Given the description of an element on the screen output the (x, y) to click on. 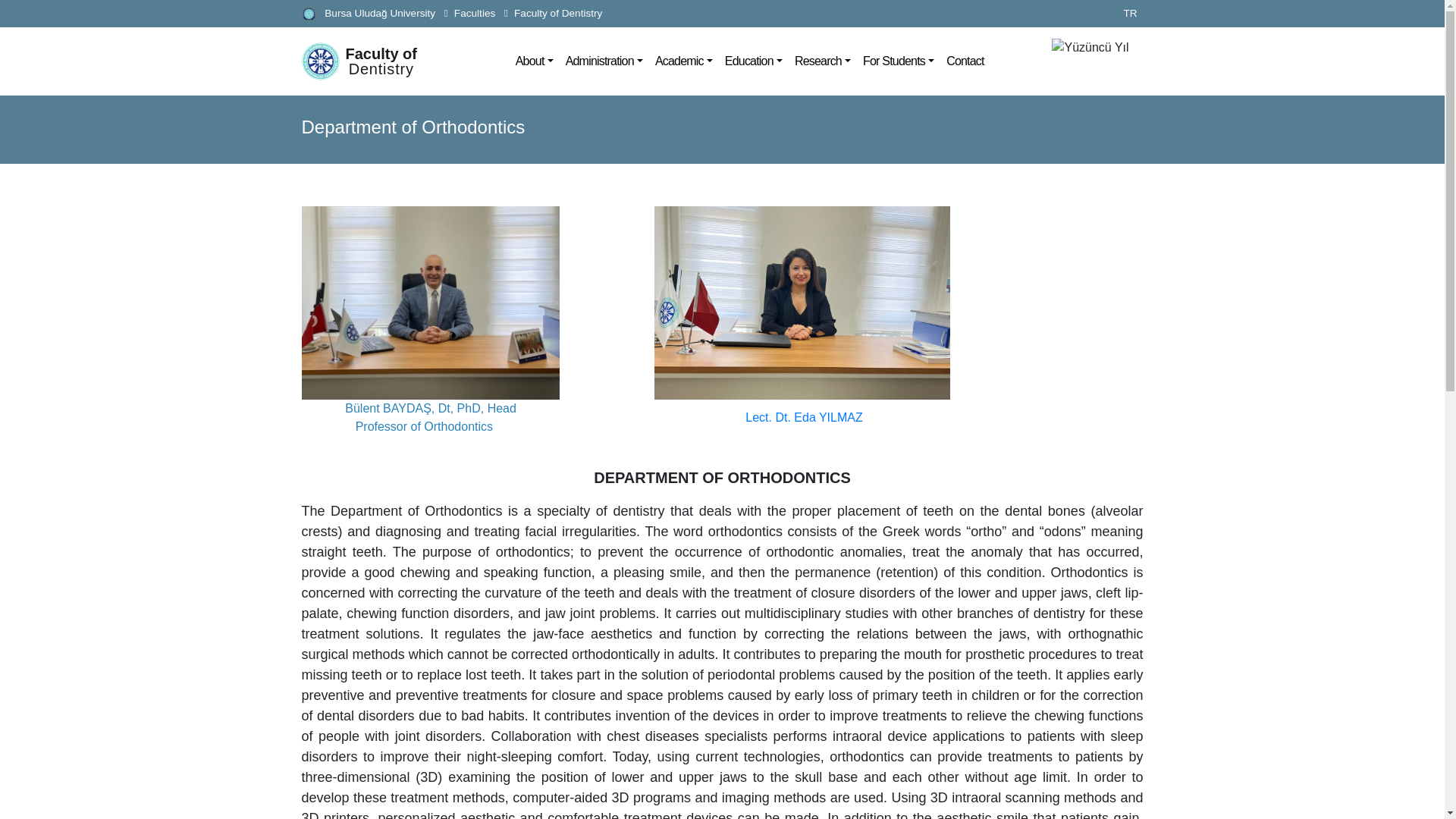
Faculties (474, 12)
Education (368, 61)
For Students (754, 60)
Academic (898, 60)
Research (684, 60)
Administration (823, 60)
Faculty of Dentistry (604, 60)
About (558, 12)
